Given the description of an element on the screen output the (x, y) to click on. 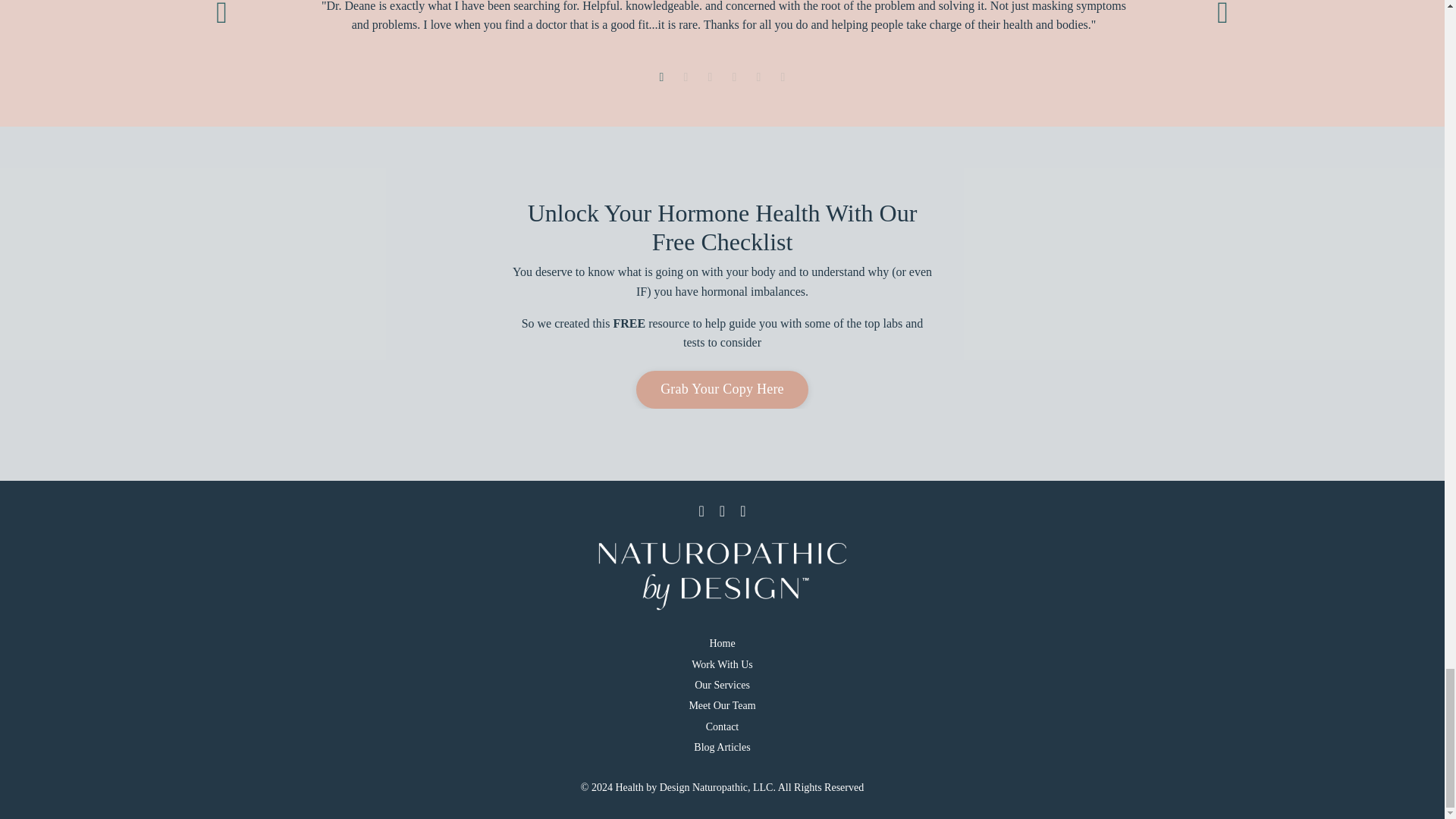
Home (721, 643)
Grab Your Copy Here (722, 389)
Blog Articles (721, 747)
Our Services (721, 685)
1 (660, 77)
6 (782, 77)
Meet Our Team (721, 705)
2 (685, 77)
Previous (221, 33)
Work With Us (721, 664)
Contact (721, 727)
5 (758, 77)
Next (1222, 33)
3 (709, 77)
4 (733, 77)
